Given the description of an element on the screen output the (x, y) to click on. 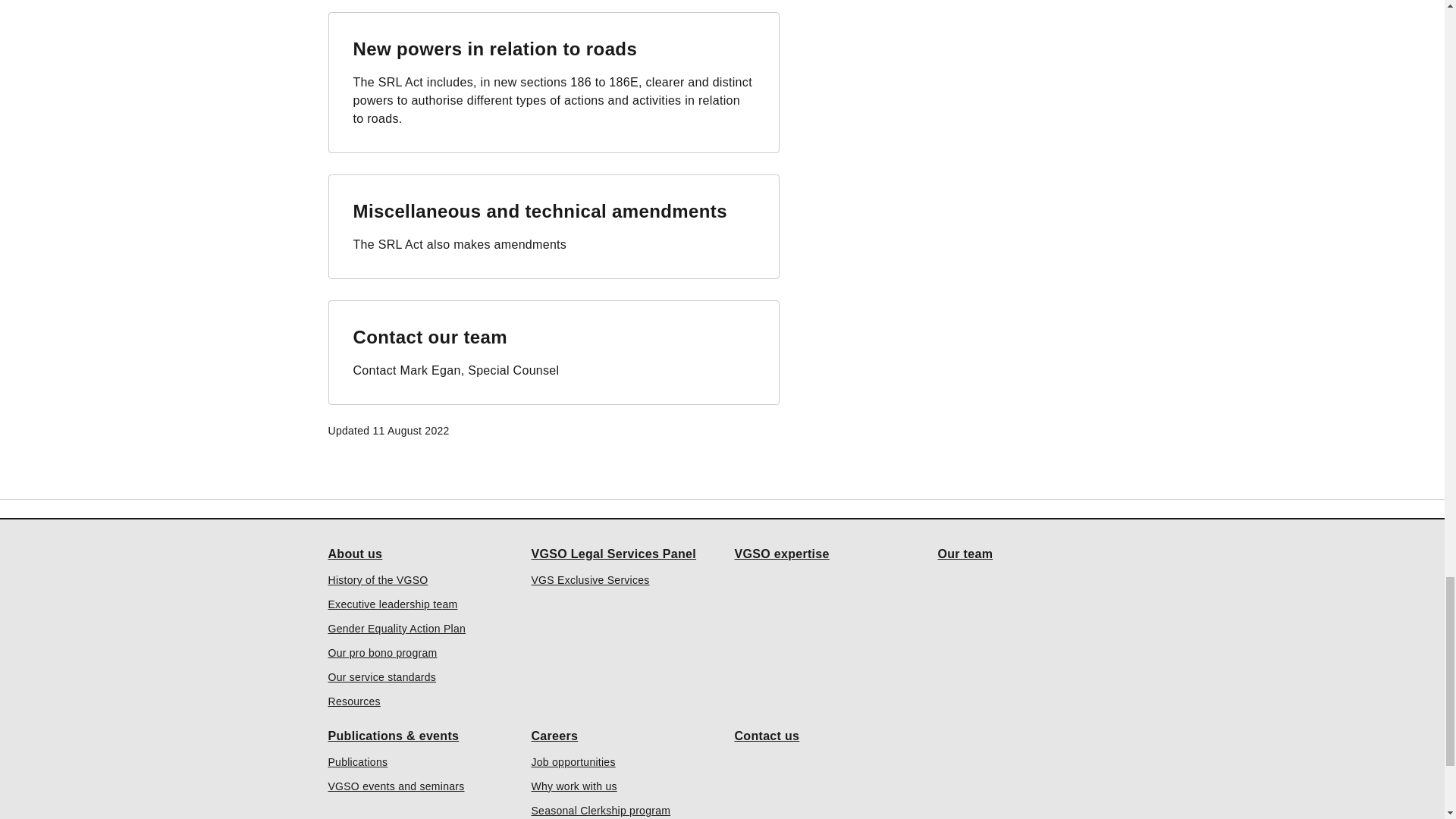
History of the VGSO (377, 579)
Resources (353, 700)
Gender Equality Action Plan (396, 627)
Miscellaneous and technical amendments (539, 209)
Contact our team (430, 335)
Our pro bono program (381, 652)
New powers in relation to roads (495, 47)
Executive leadership team (392, 603)
Our service standards (381, 676)
VGSO Legal Services Panel (613, 553)
